Given the description of an element on the screen output the (x, y) to click on. 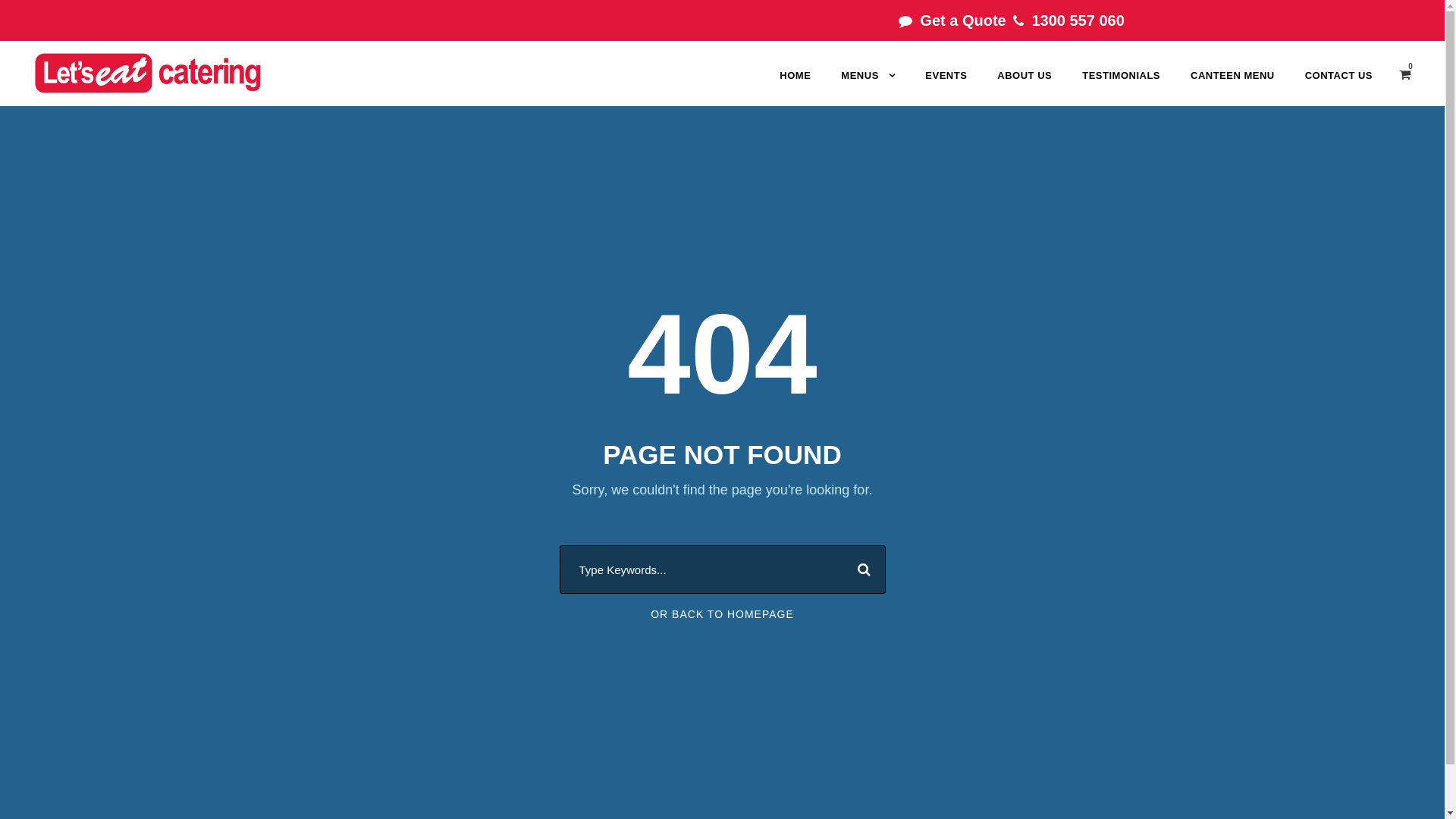
MENUS Element type: text (867, 85)
1300 557 060 Element type: text (1079, 20)
EVENTS Element type: text (945, 85)
CONTACT US Element type: text (1338, 85)
OR BACK TO HOMEPAGE Element type: text (721, 614)
HOME Element type: text (794, 85)
Search Element type: text (859, 569)
TESTIMONIALS Element type: text (1121, 85)
ABOUT US Element type: text (1024, 85)
CANTEEN MENU Element type: text (1232, 85)
Get a Quote Element type: text (964, 20)
